Given the description of an element on the screen output the (x, y) to click on. 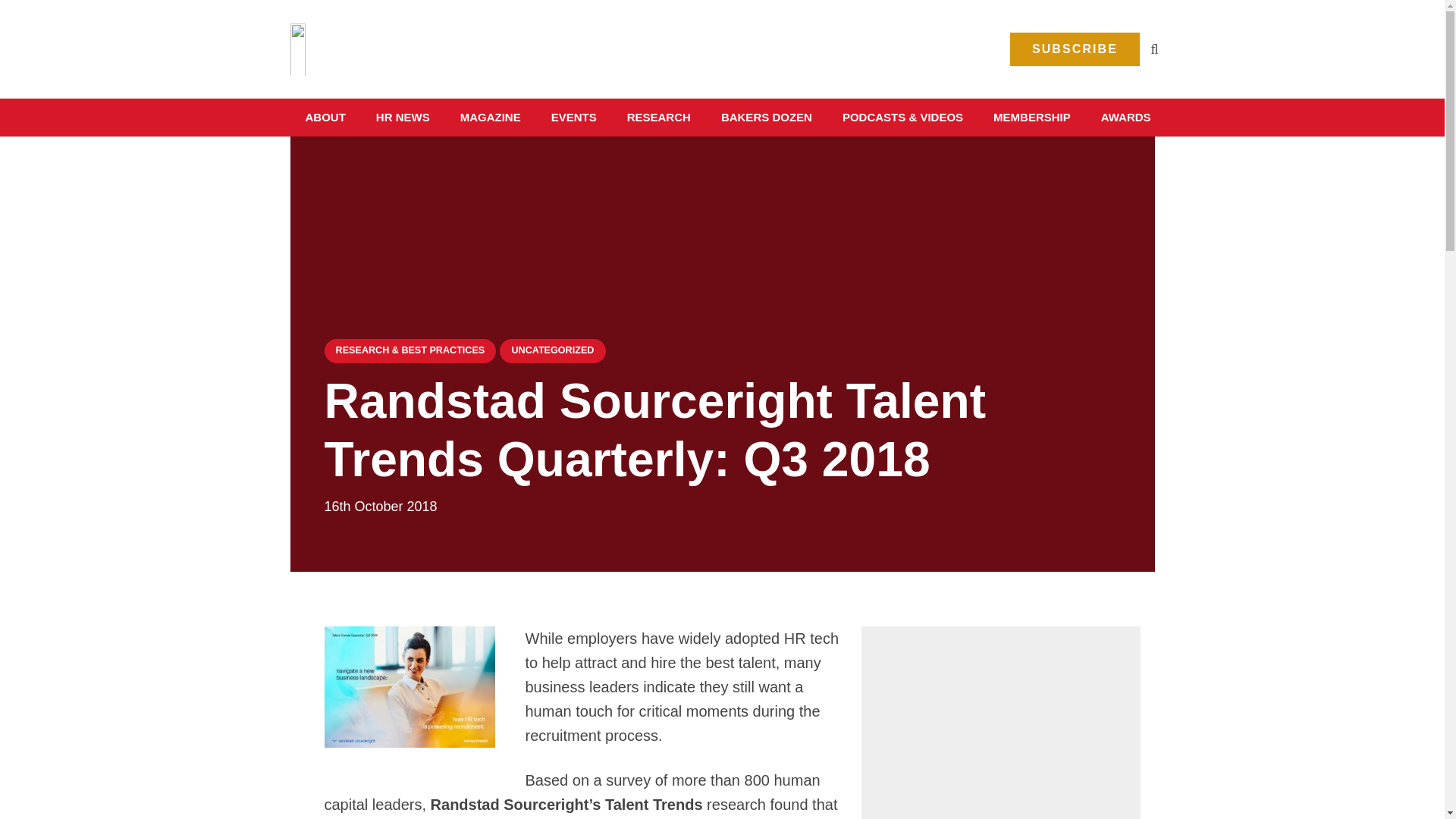
MAGAZINE (490, 117)
HR NEWS (403, 117)
SUBSCRIBE (1075, 49)
ABOUT (324, 117)
EVENTS (573, 117)
RESEARCH (658, 117)
